Given the description of an element on the screen output the (x, y) to click on. 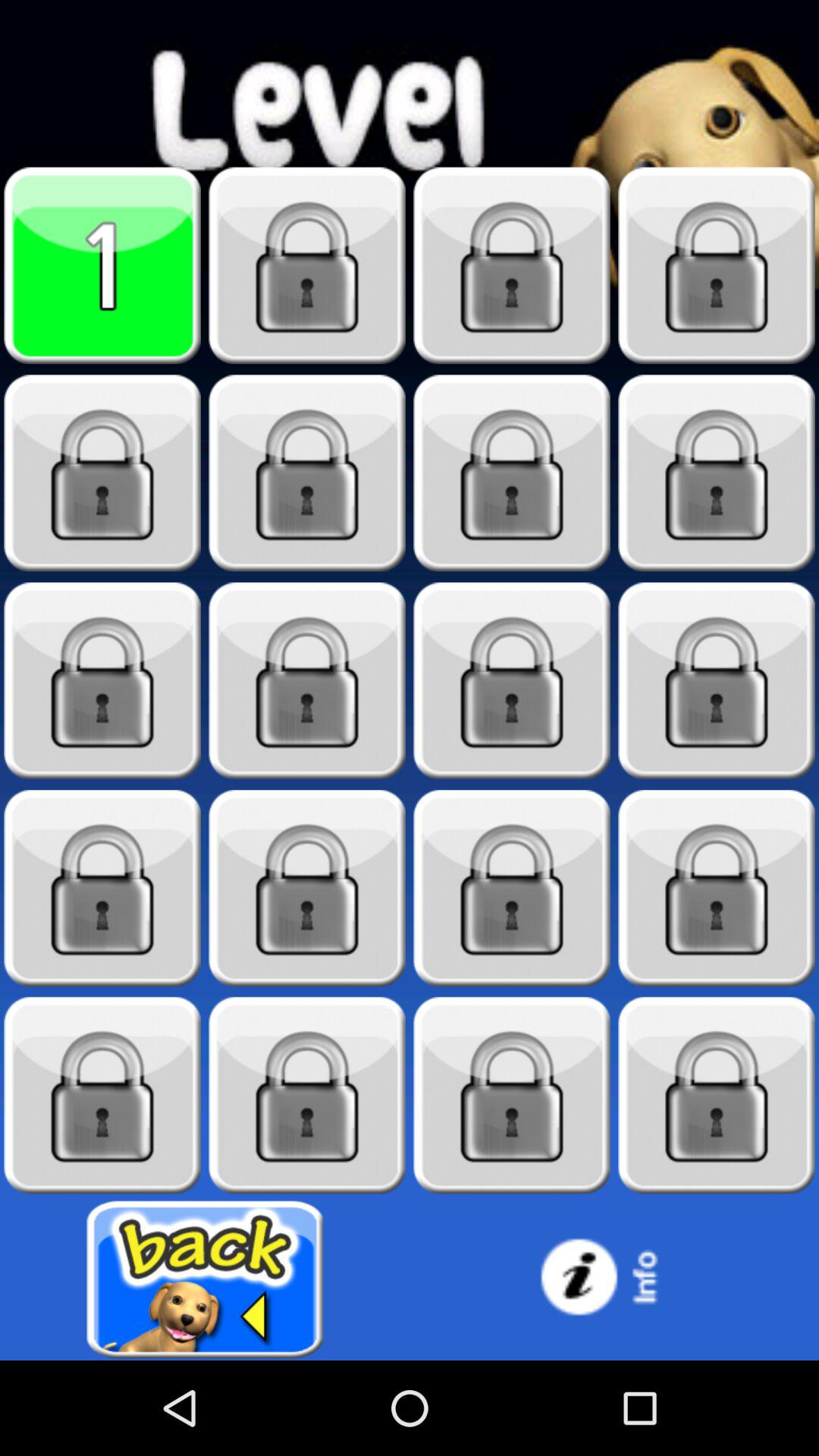
select locked level (306, 473)
